Given the description of an element on the screen output the (x, y) to click on. 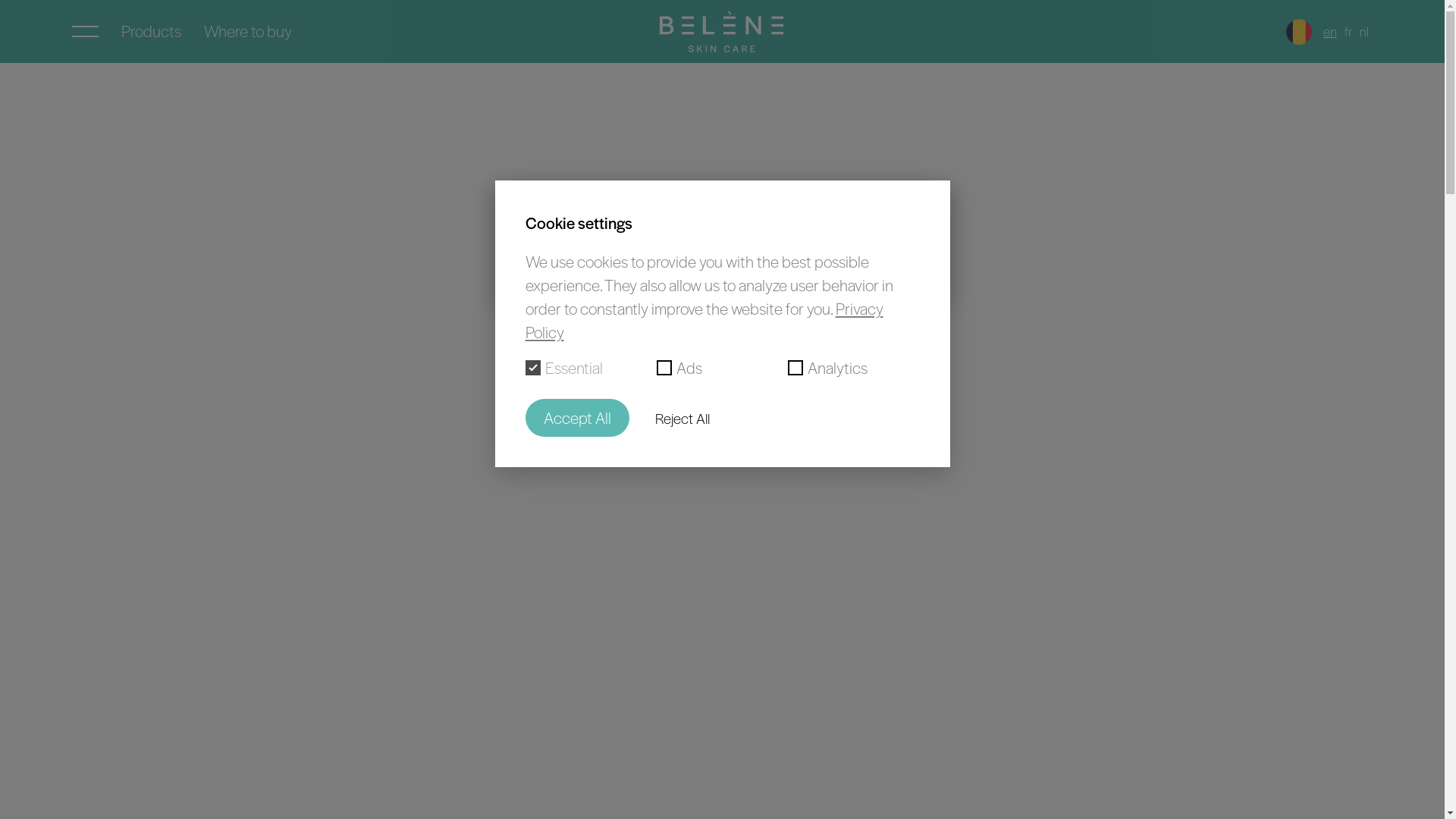
French Element type: text (727, 222)
Romana Element type: text (636, 252)
Privacy Policy Element type: text (703, 319)
English Element type: text (797, 222)
fr Element type: text (1348, 30)
nl Element type: text (1363, 30)
Nederlands Element type: text (647, 222)
Products Element type: text (151, 31)
en Element type: text (1329, 30)
Reject All Element type: text (682, 417)
Where to buy Element type: text (247, 31)
Accept All Element type: text (576, 417)
